Given the description of an element on the screen output the (x, y) to click on. 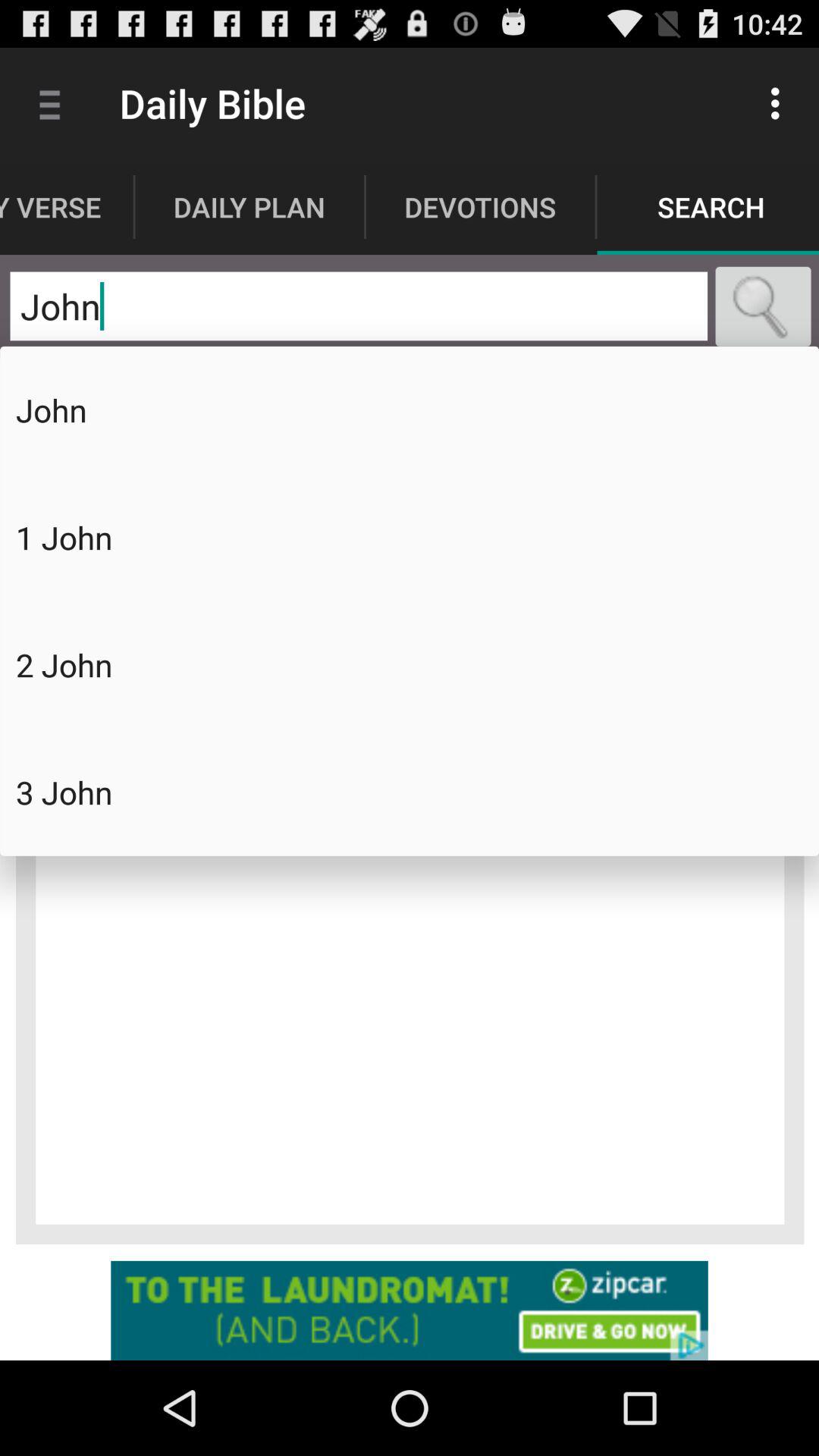
go to search (763, 306)
